Given the description of an element on the screen output the (x, y) to click on. 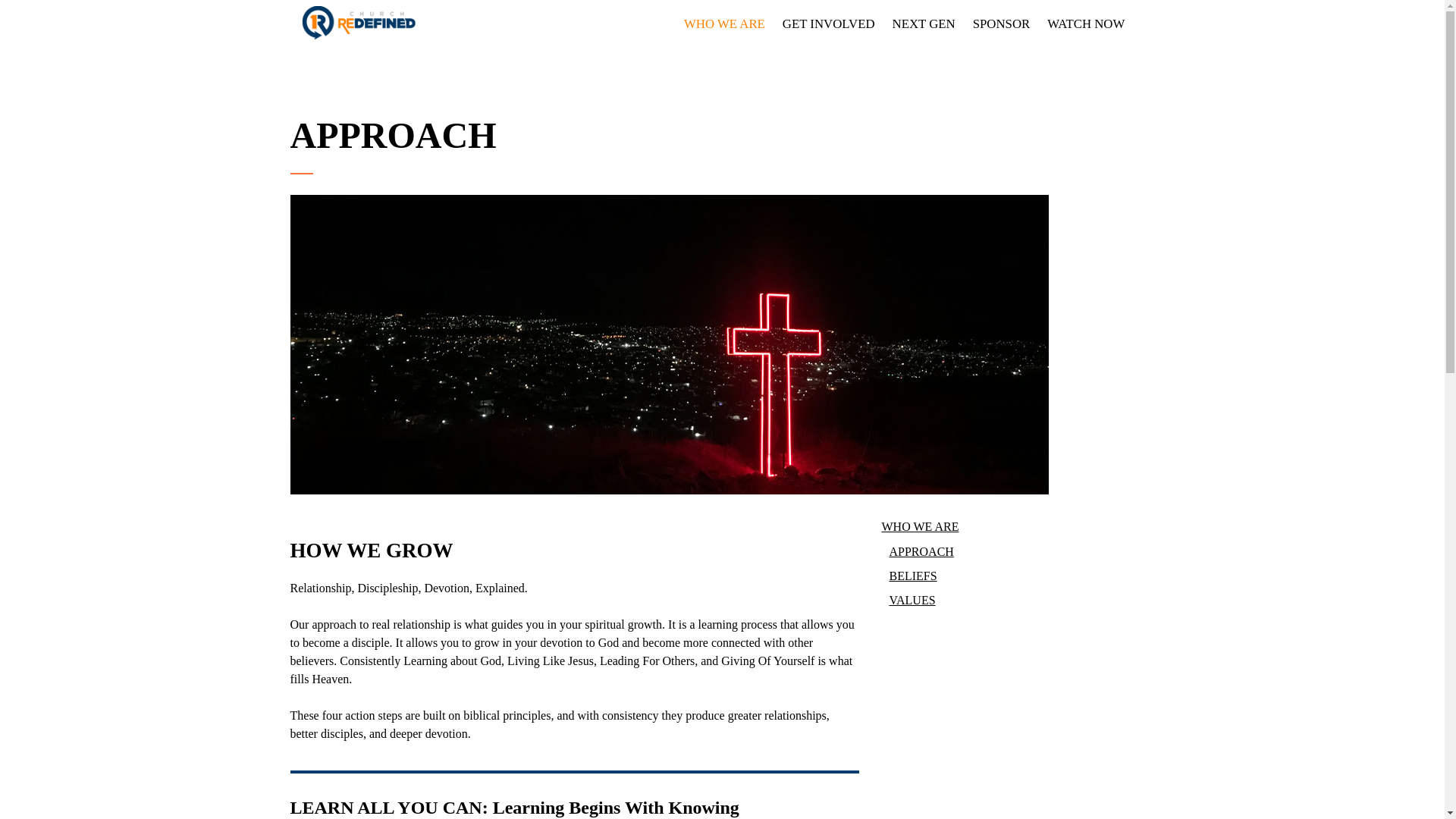
SPONSOR (998, 22)
NEXT GEN (921, 22)
WHO WE ARE (722, 22)
GET INVOLVED (825, 22)
WATCH NOW (1082, 22)
